Given the description of an element on the screen output the (x, y) to click on. 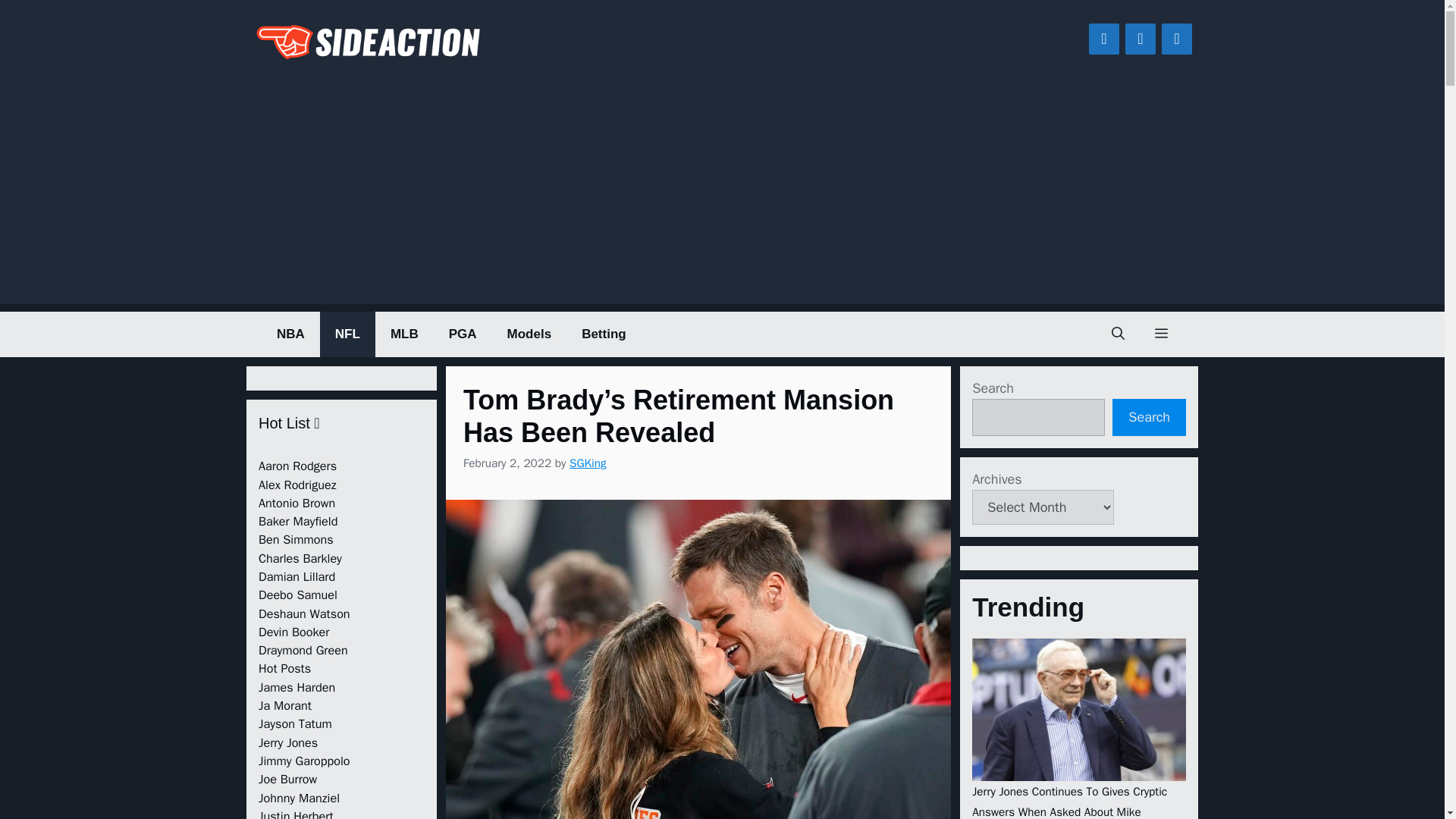
MLB (404, 334)
View all posts by SGKing (588, 462)
NFL (347, 334)
NBA (291, 334)
PGA (462, 334)
Betting (604, 334)
SGKing (588, 462)
Models (529, 334)
